Given the description of an element on the screen output the (x, y) to click on. 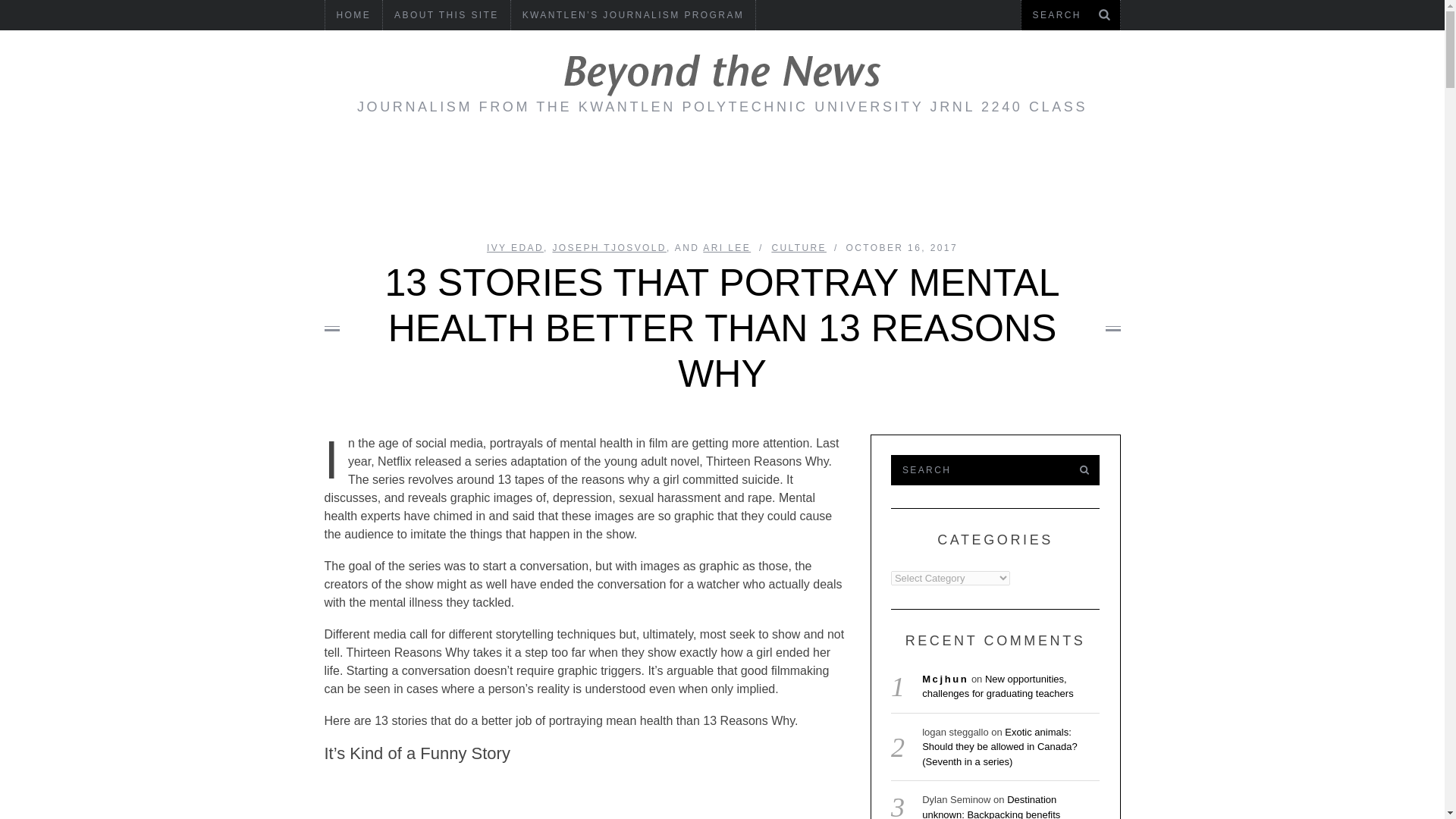
Posts by Joseph Tjosvold (608, 247)
Search (976, 470)
ABOUT THIS SITE (446, 14)
Search (1070, 15)
Posts by Ari Lee (727, 247)
HOME (352, 14)
Posts by Ivy Edad (514, 247)
